Given the description of an element on the screen output the (x, y) to click on. 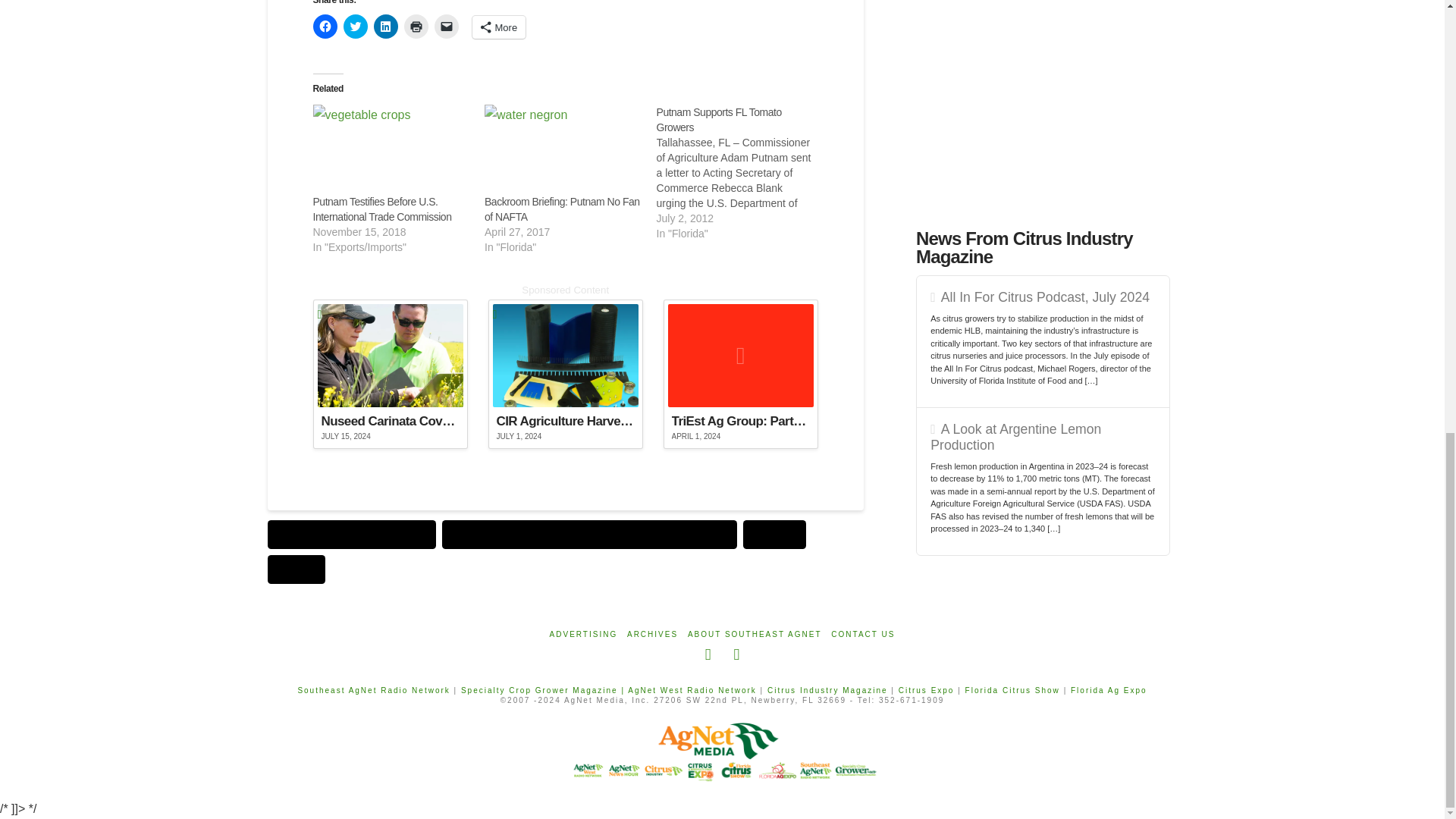
Click to share on Facebook (324, 26)
Click to share on LinkedIn (384, 26)
Click to print (415, 26)
Click to share on Twitter (354, 26)
